Given the description of an element on the screen output the (x, y) to click on. 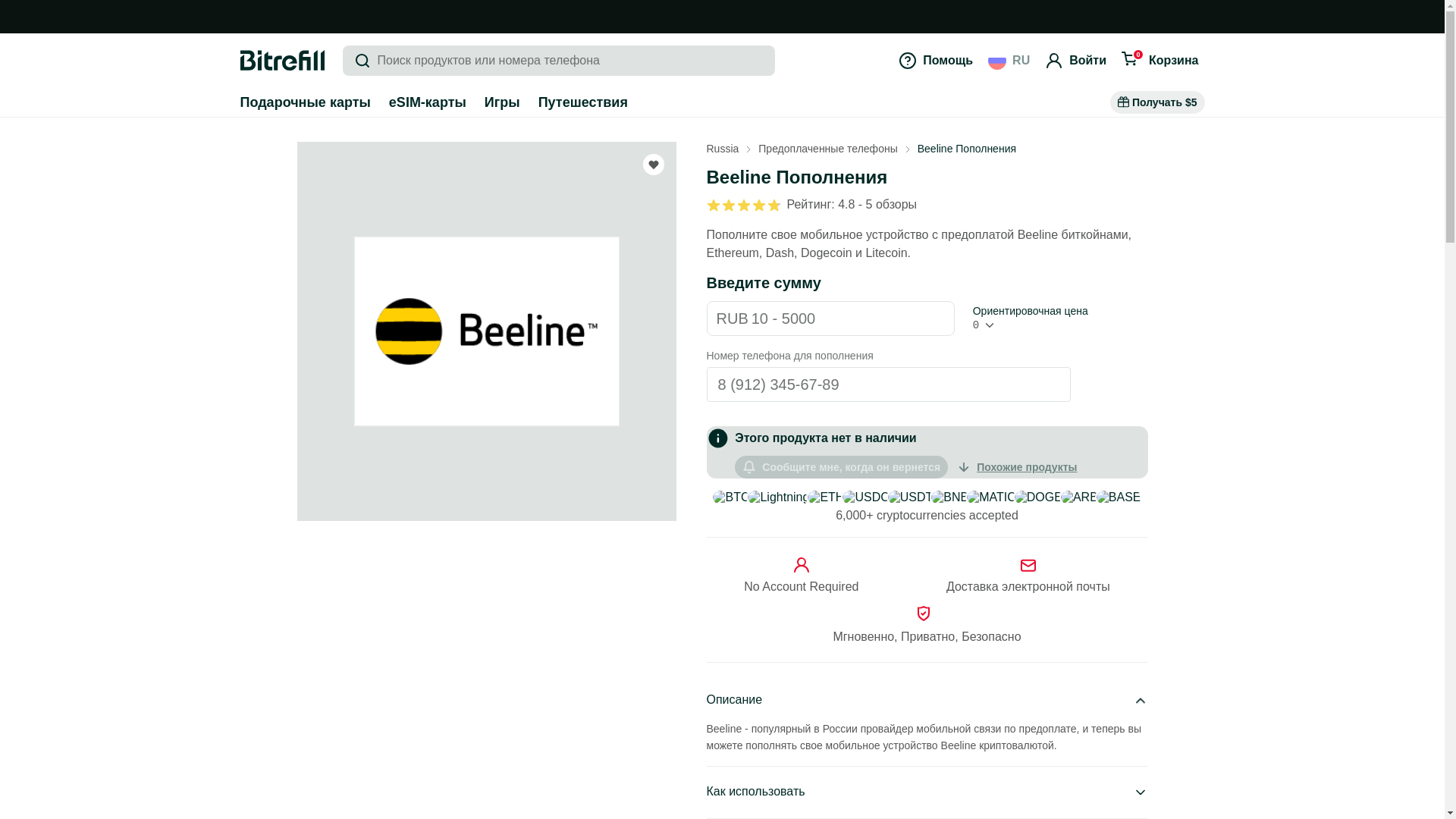
USDC (865, 497)
RU (1008, 60)
MATIC (991, 497)
BTC (731, 497)
USDT (910, 497)
Lightning (778, 497)
ARB (1079, 497)
Russia (722, 148)
ETH (826, 497)
BASE (1118, 497)
